Given the description of an element on the screen output the (x, y) to click on. 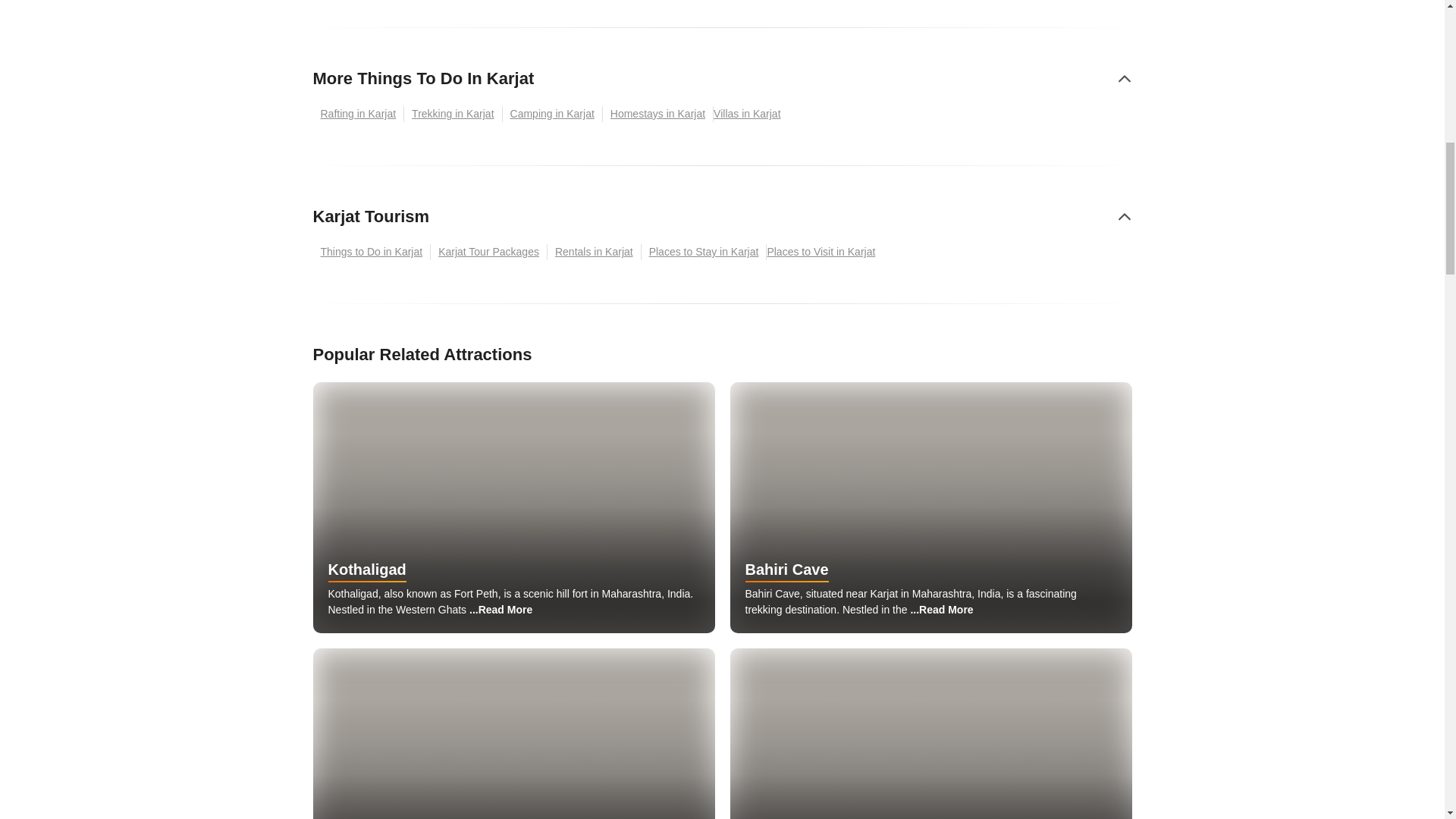
Things to Do in Karjat (371, 252)
Villas in Karjat (750, 114)
Rentals in Karjat (594, 252)
Camping in Karjat (552, 114)
Trekking in Karjat (453, 114)
Homestays in Karjat (657, 114)
Places to Visit in Karjat (824, 252)
Rafting in Karjat (358, 114)
